Given the description of an element on the screen output the (x, y) to click on. 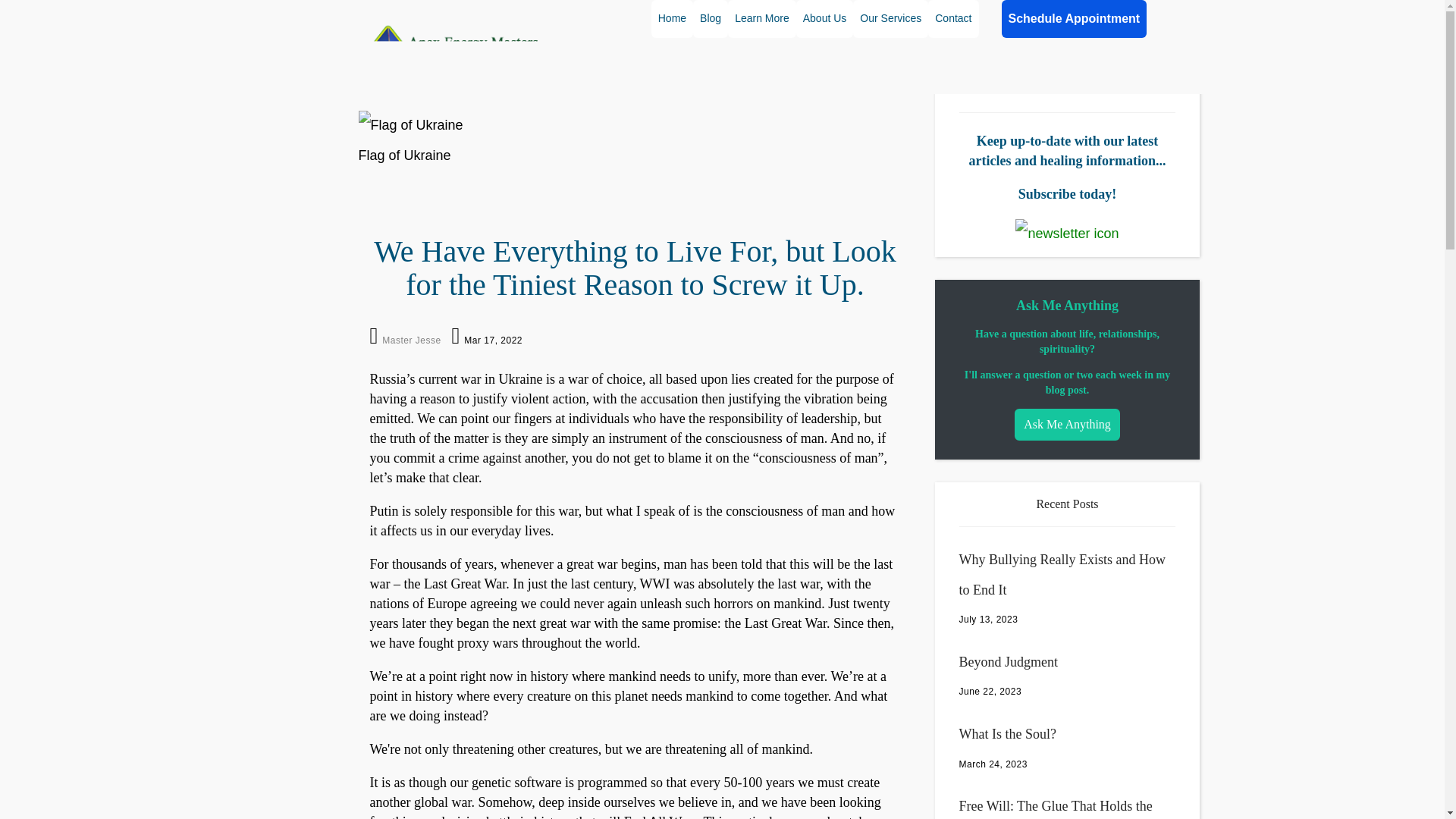
Learn More (762, 18)
Blog (710, 18)
Our Services (890, 18)
About Us (824, 18)
Contact (953, 18)
Home (671, 18)
Master Jesse (411, 339)
